Given the description of an element on the screen output the (x, y) to click on. 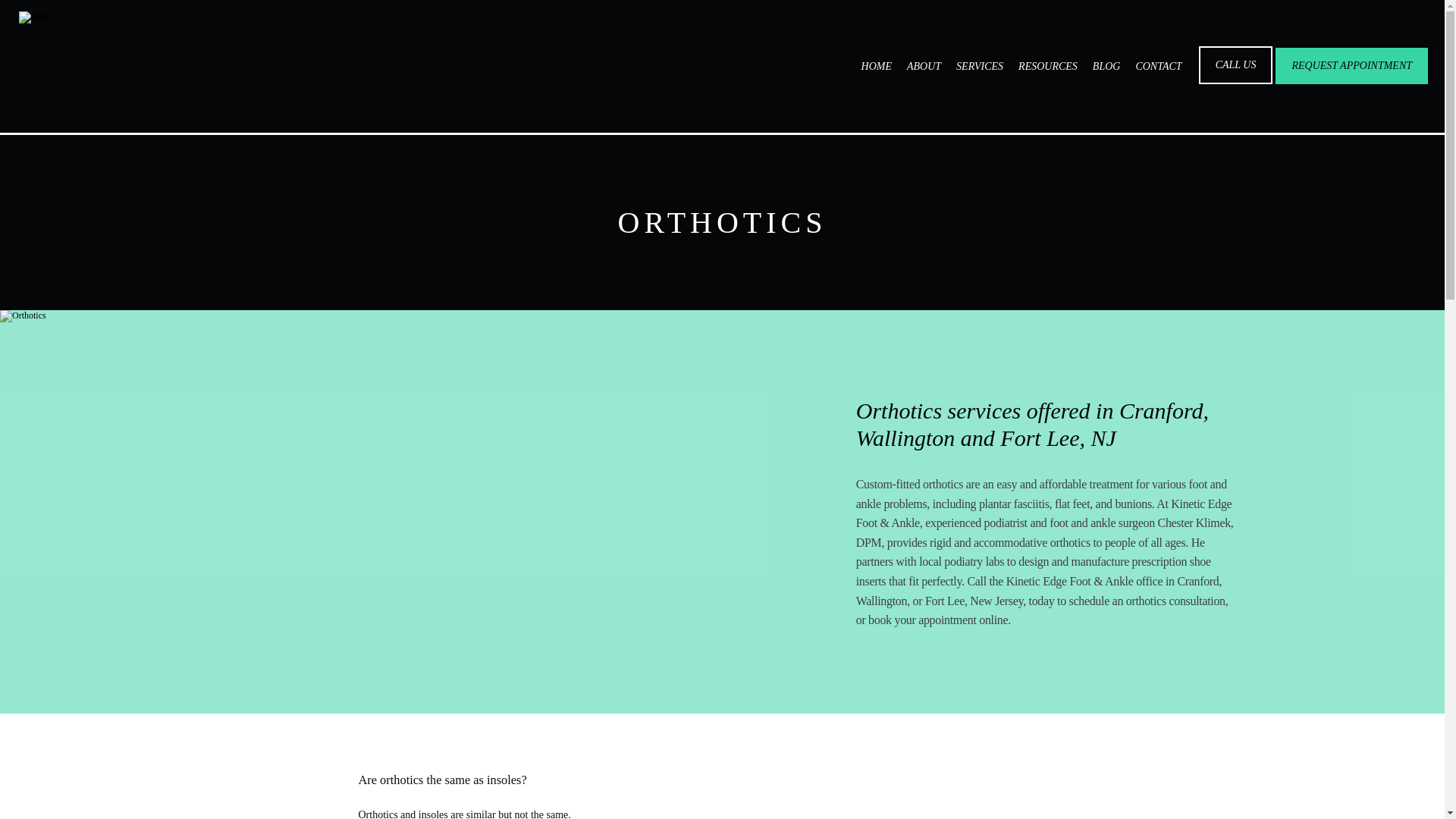
BLOG (1107, 66)
CALL US (1235, 81)
ABOUT (923, 66)
REQUEST APPOINTMENT (1351, 81)
CONTACT (1157, 66)
SERVICES (979, 66)
HOME (876, 66)
